Given the description of an element on the screen output the (x, y) to click on. 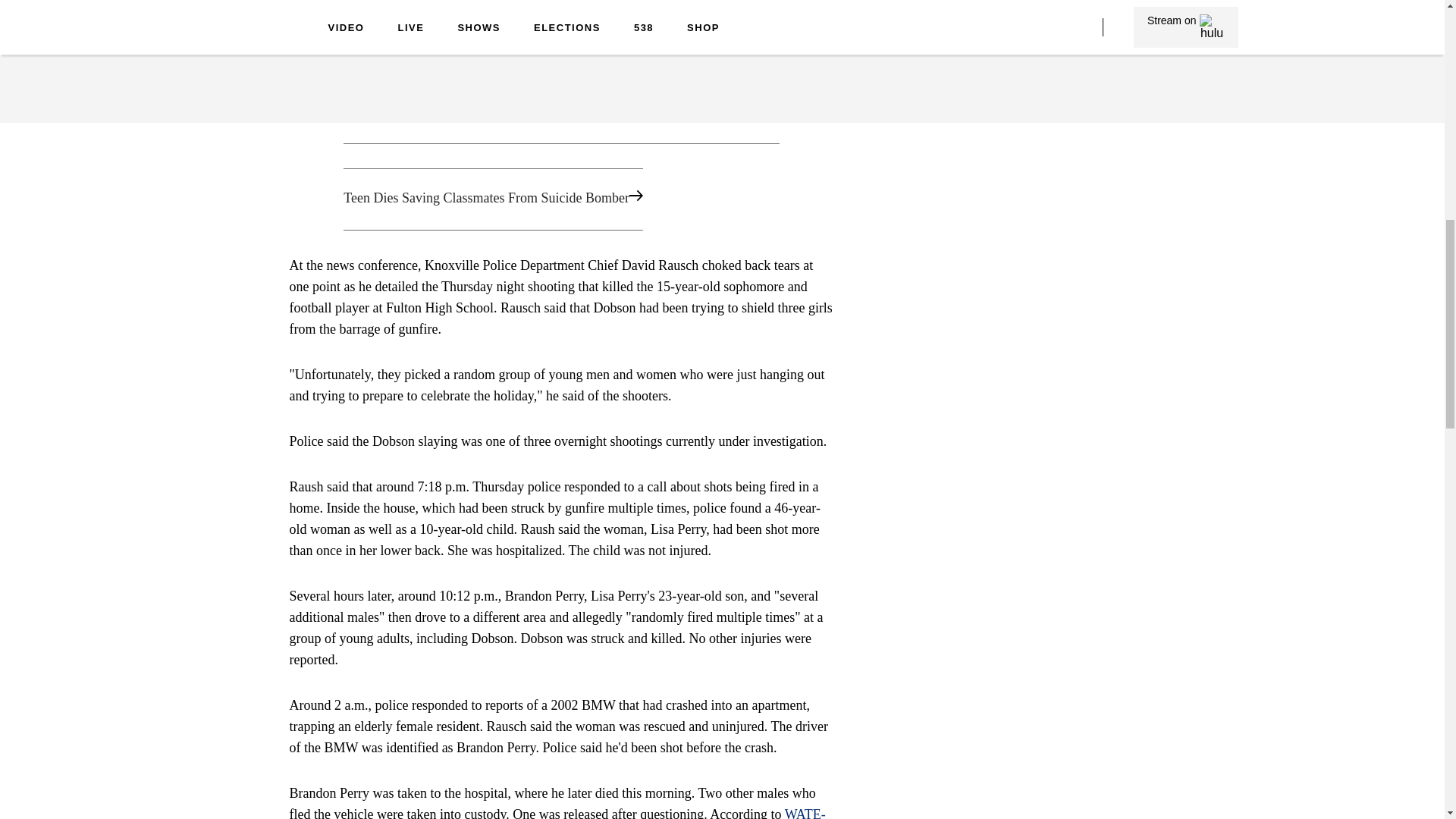
Teen Dies Saving Classmates From Suicide Bomber (560, 199)
a news conference (403, 6)
WATE-TV (557, 812)
